Given the description of an element on the screen output the (x, y) to click on. 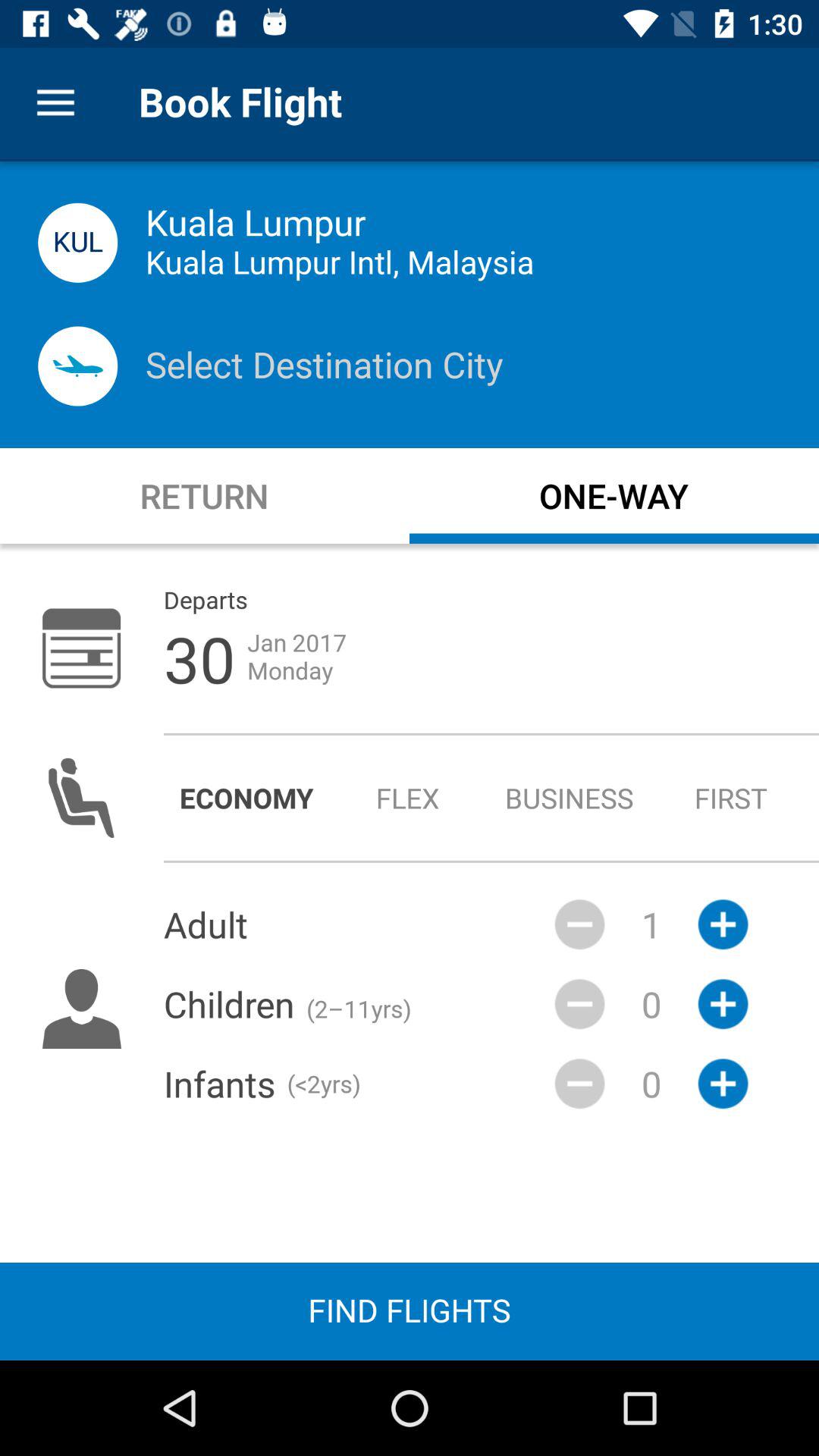
press the economy radio button (246, 797)
